Given the description of an element on the screen output the (x, y) to click on. 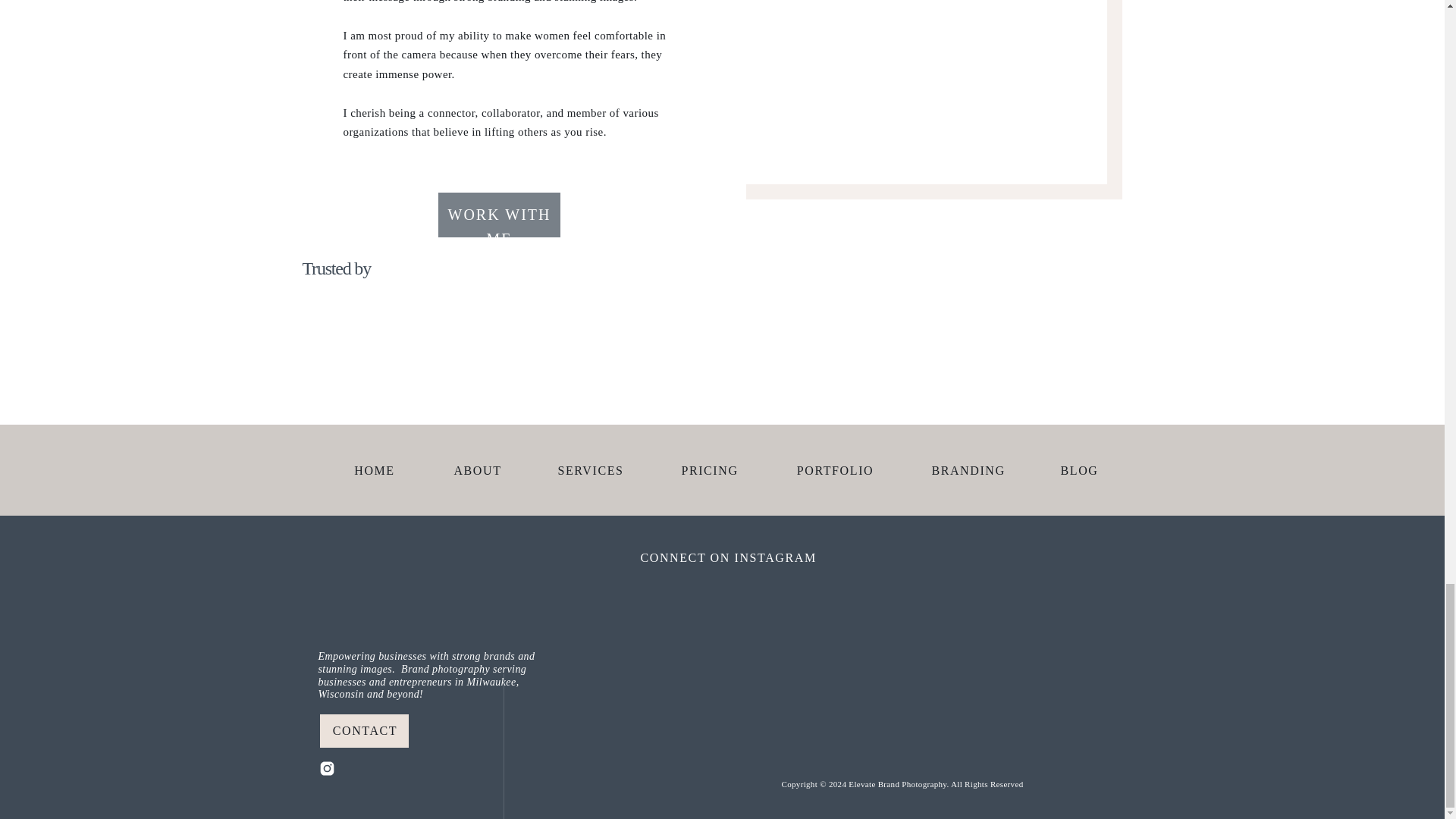
PORTFOLIO (835, 470)
WORK WITH ME (498, 215)
CONNECT ON INSTAGRAM (753, 557)
SERVICES (591, 470)
ABOUT (477, 470)
HOME (374, 470)
PRICING (710, 470)
BRANDING (968, 470)
BLOG (1076, 470)
CONTACT (365, 731)
